Given the description of an element on the screen output the (x, y) to click on. 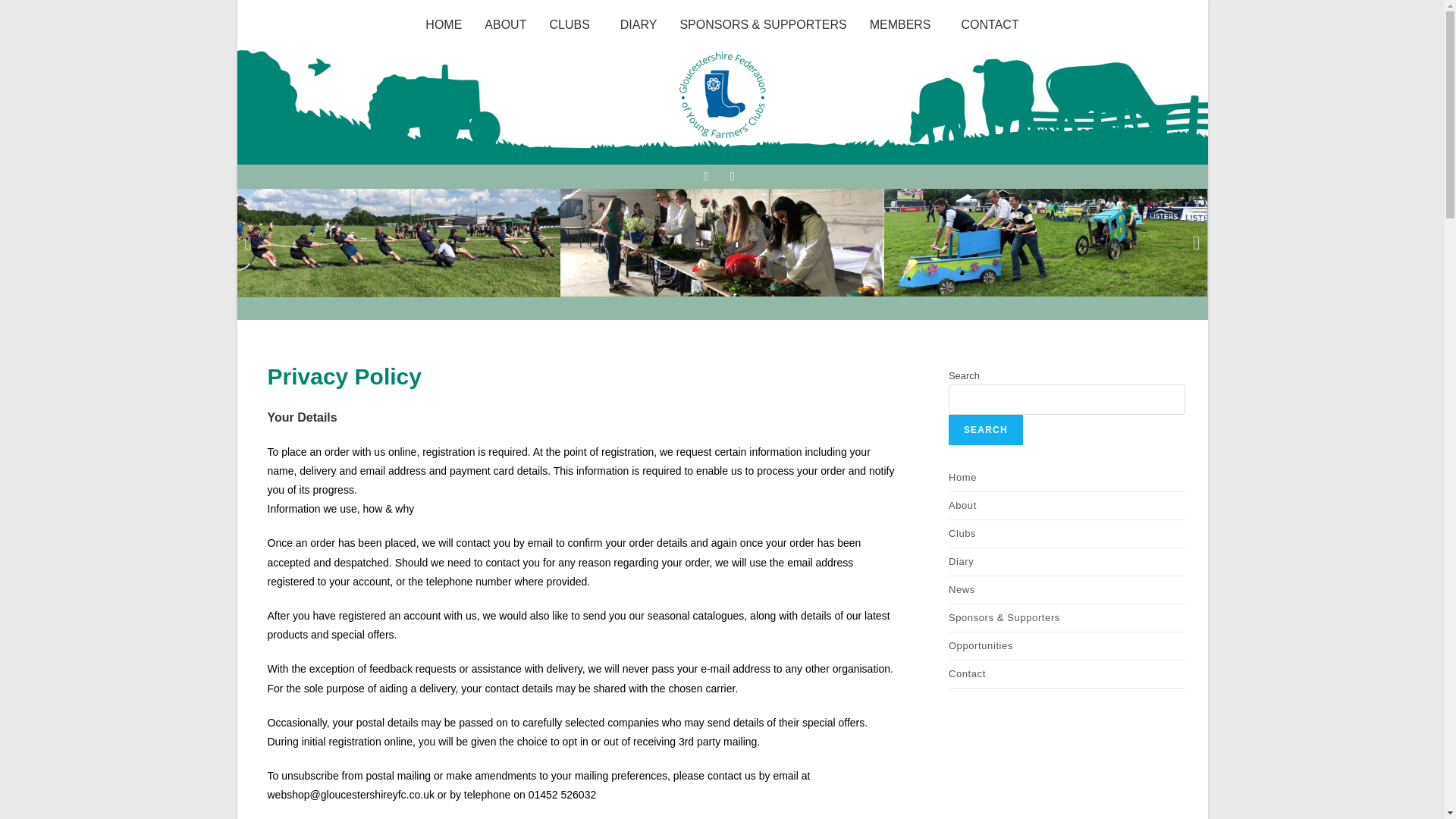
ABOUT (505, 24)
Opportunities (1067, 646)
Contact (1067, 673)
Diary (1067, 561)
Clubs (1067, 533)
CONTACT (990, 24)
Home (1067, 477)
CLUBS (572, 24)
DIARY (638, 24)
HOME (443, 24)
